Given the description of an element on the screen output the (x, y) to click on. 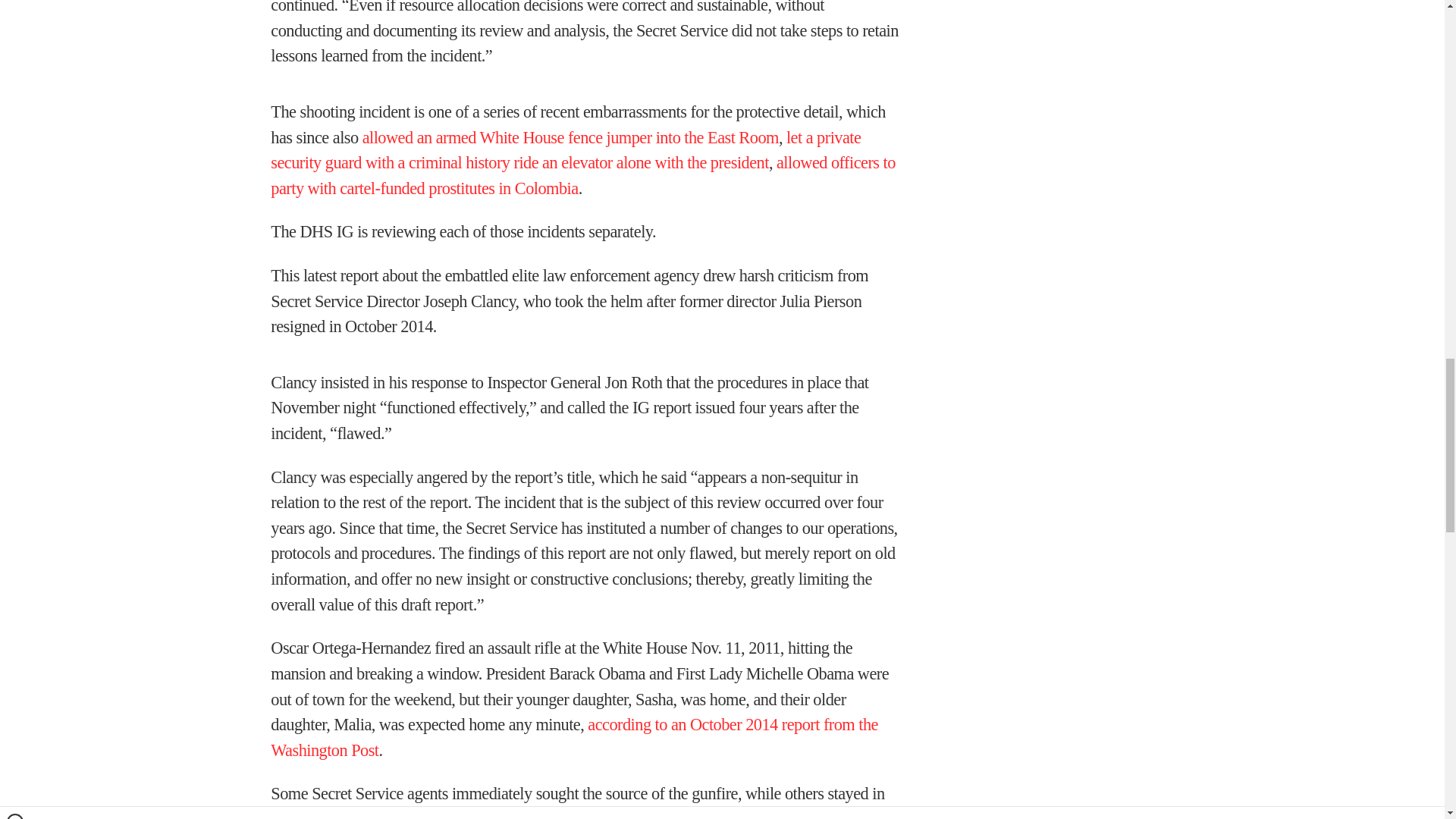
allowed an armed White House fence jumper into the East Room (570, 137)
